Given the description of an element on the screen output the (x, y) to click on. 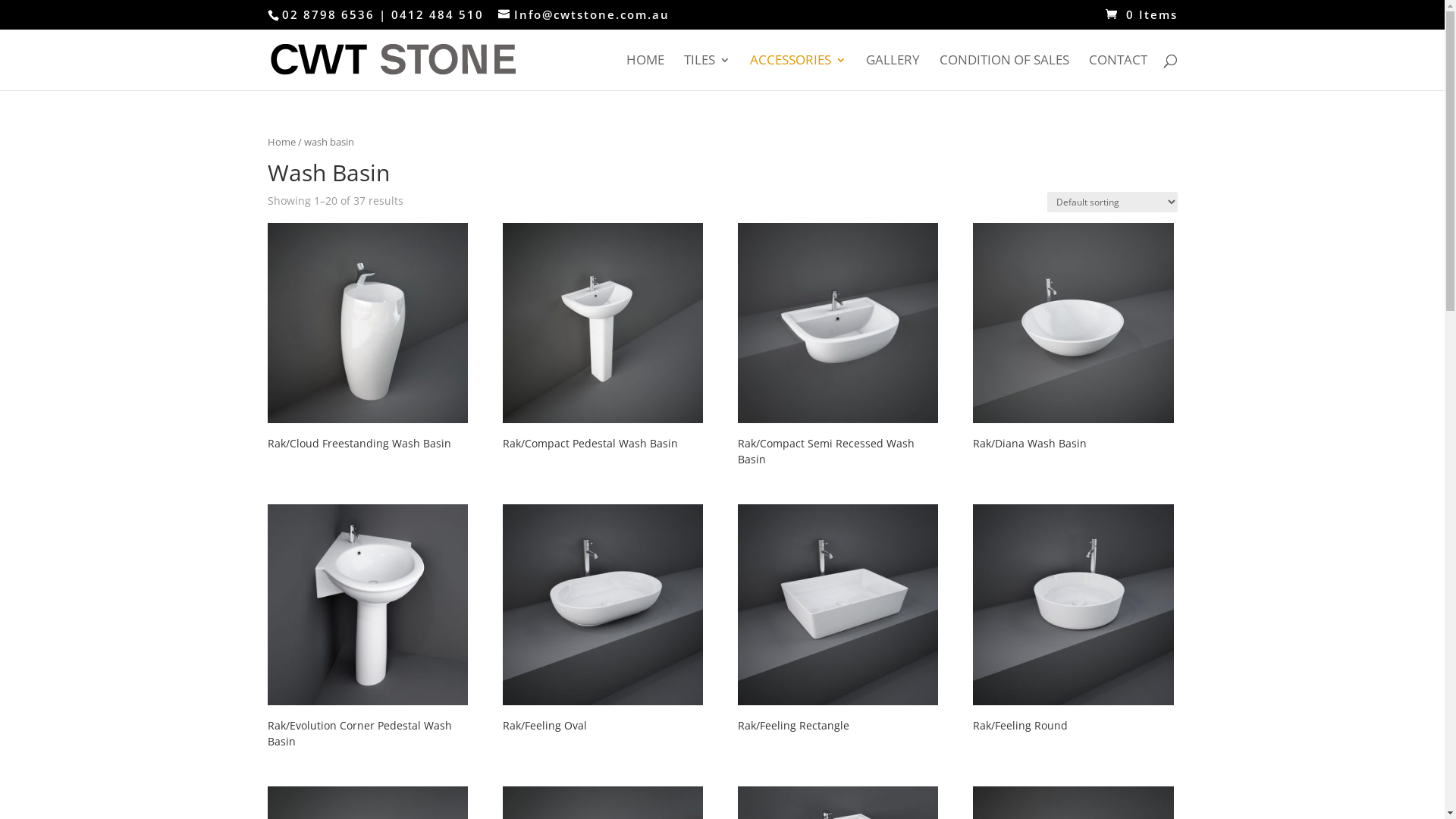
ACCESSORIES Element type: text (797, 72)
Rak/Feeling Round Element type: text (1072, 621)
Rak/Compact Semi Recessed Wash Basin Element type: text (837, 347)
Info@cwtstone.com.au Element type: text (582, 13)
Home Element type: text (280, 141)
Rak/Feeling Oval Element type: text (602, 621)
Rak/Diana Wash Basin Element type: text (1072, 339)
0 Items Element type: text (1141, 13)
Rak/Evolution Corner Pedestal Wash Basin Element type: text (366, 629)
Rak/Feeling Rectangle Element type: text (837, 621)
CONDITION OF SALES Element type: text (1003, 72)
CONTACT Element type: text (1117, 72)
TILES Element type: text (707, 72)
Rak/Cloud Freestanding Wash Basin Element type: text (366, 339)
HOME Element type: text (645, 72)
GALLERY Element type: text (892, 72)
Rak/Compact Pedestal Wash Basin Element type: text (602, 339)
